Given the description of an element on the screen output the (x, y) to click on. 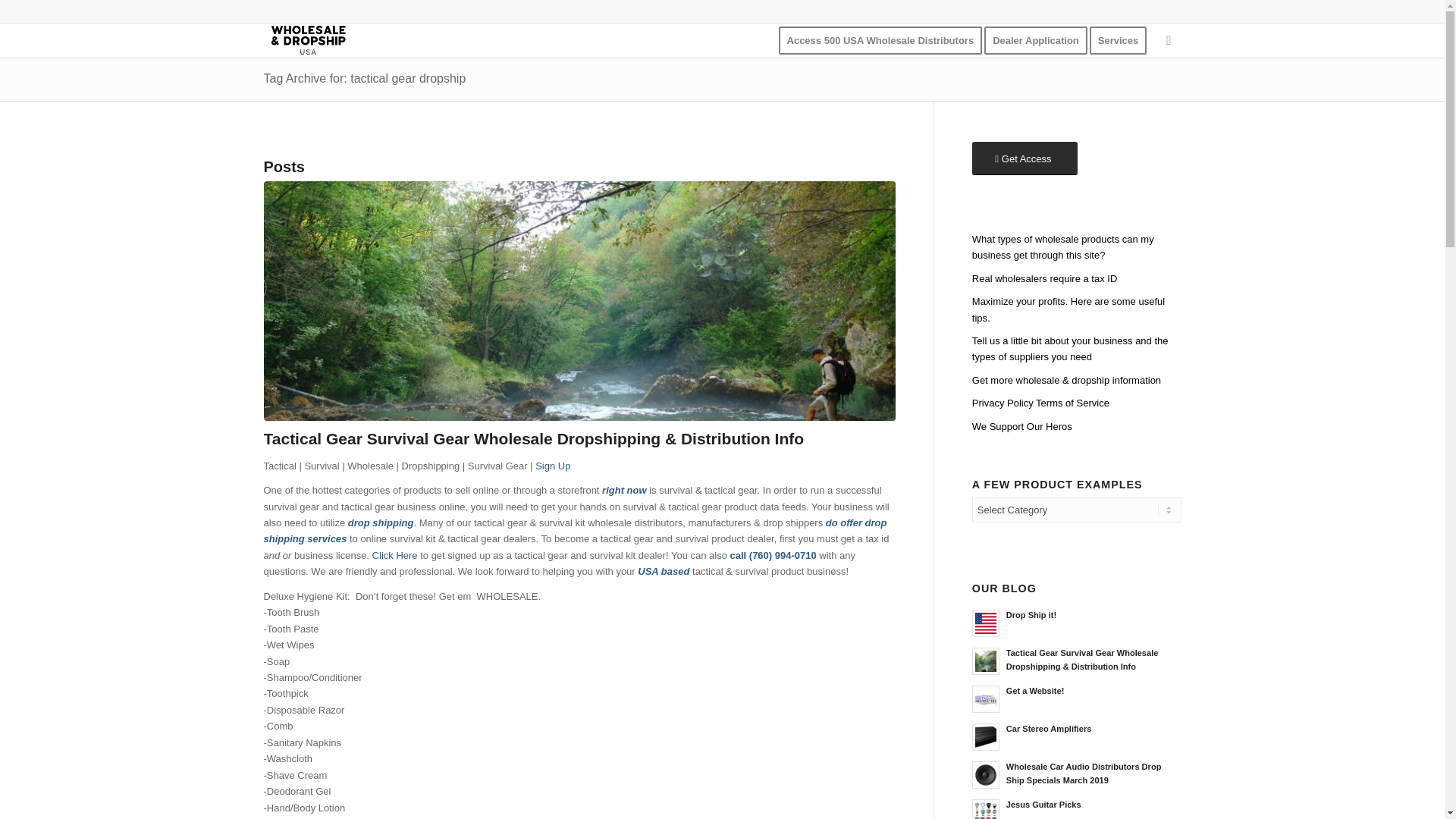
Read: Get a Website! (1035, 690)
Read: Get a Website! (985, 698)
Real wholesalers require a tax ID (1076, 278)
wholesale-dropship-suppliers-usa (308, 40)
We Support Our Heros (1076, 426)
Maximize your profits. Here are some useful tips. (1076, 310)
Access 500 USA Wholesale Distributors (880, 40)
